Given the description of an element on the screen output the (x, y) to click on. 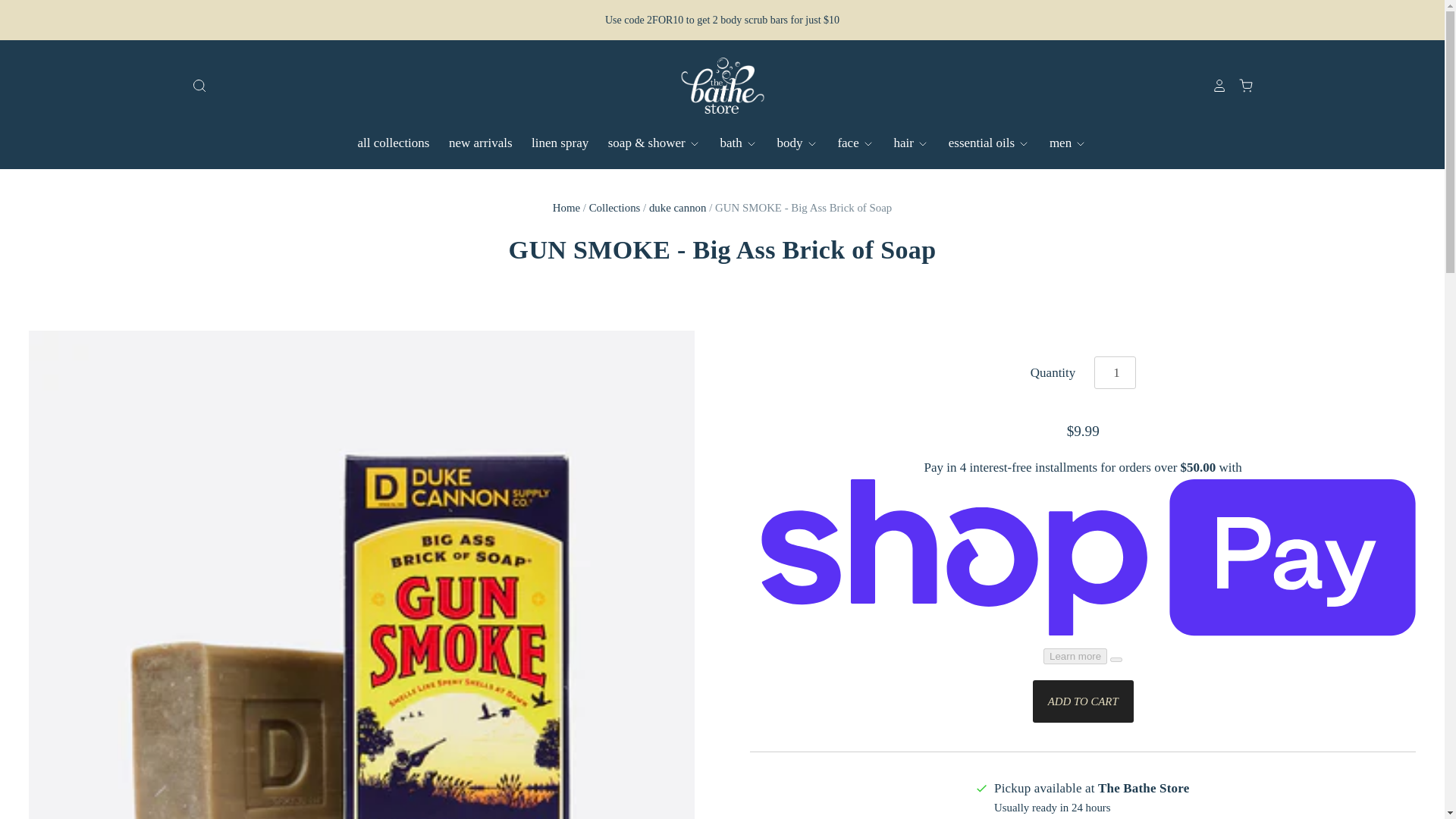
Add to cart (1083, 701)
1 (1114, 372)
